Given the description of an element on the screen output the (x, y) to click on. 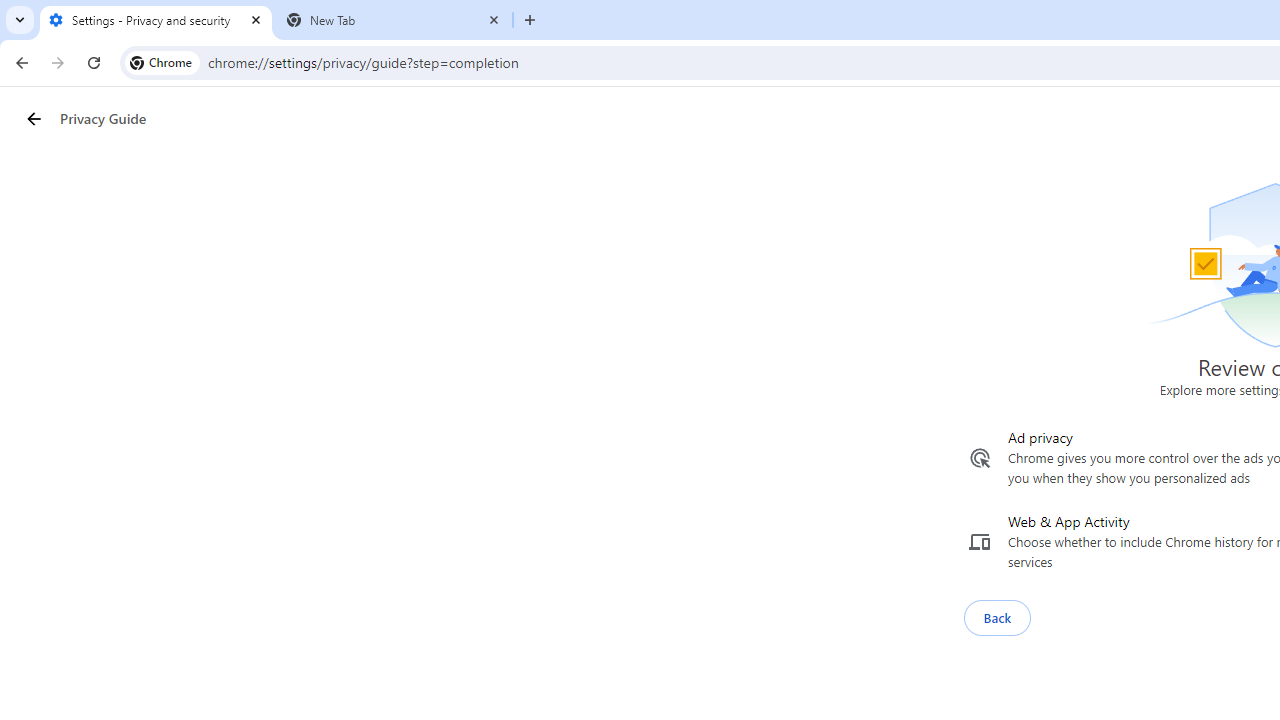
Settings - Privacy and security (156, 20)
Chrome (162, 62)
Search tabs (20, 20)
New Tab (394, 20)
Reload (93, 62)
Forward (57, 62)
Back (19, 62)
New Tab (529, 20)
Privacy Guide back button (33, 118)
